Given the description of an element on the screen output the (x, y) to click on. 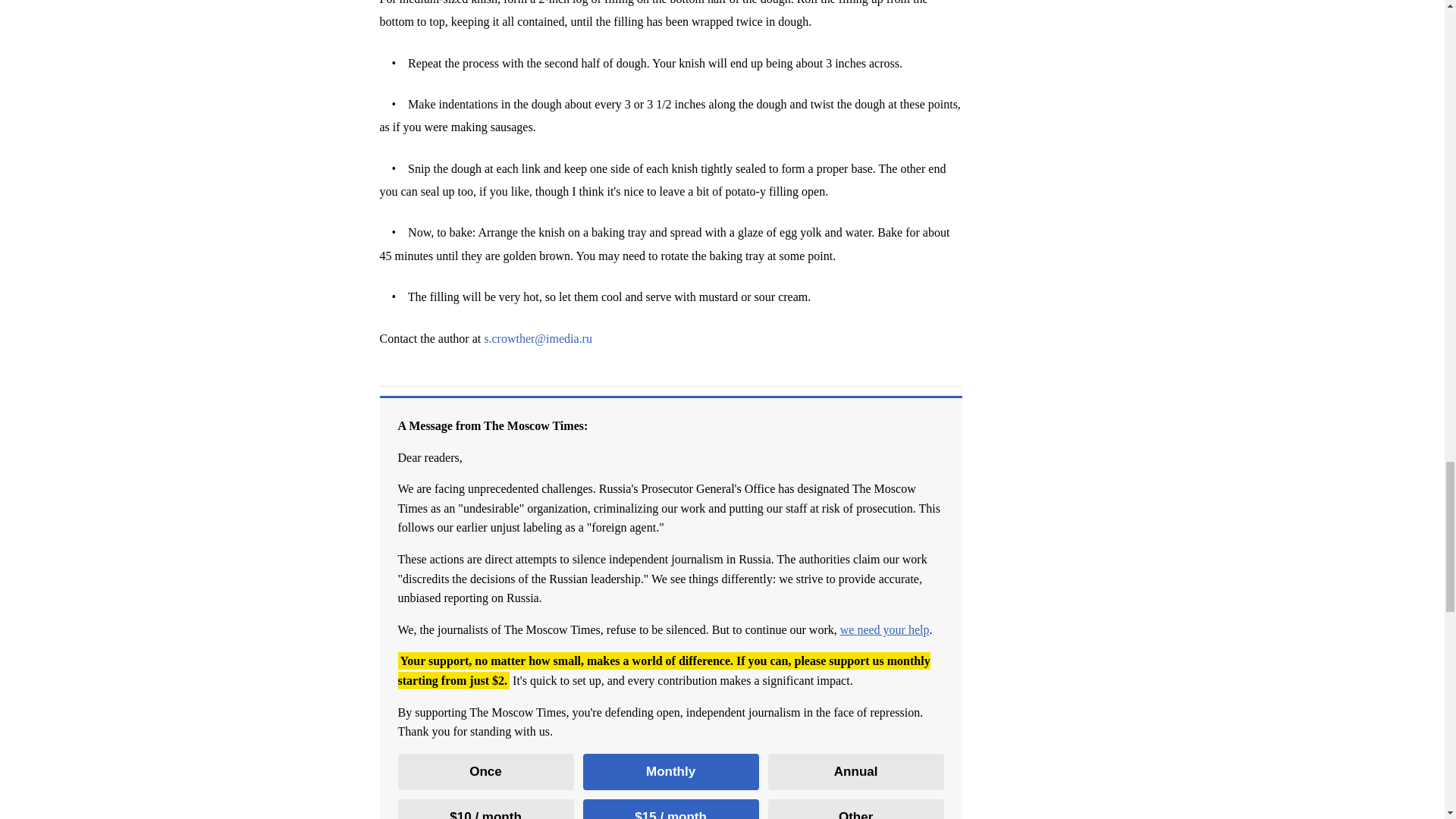
we need your help (885, 629)
